Given the description of an element on the screen output the (x, y) to click on. 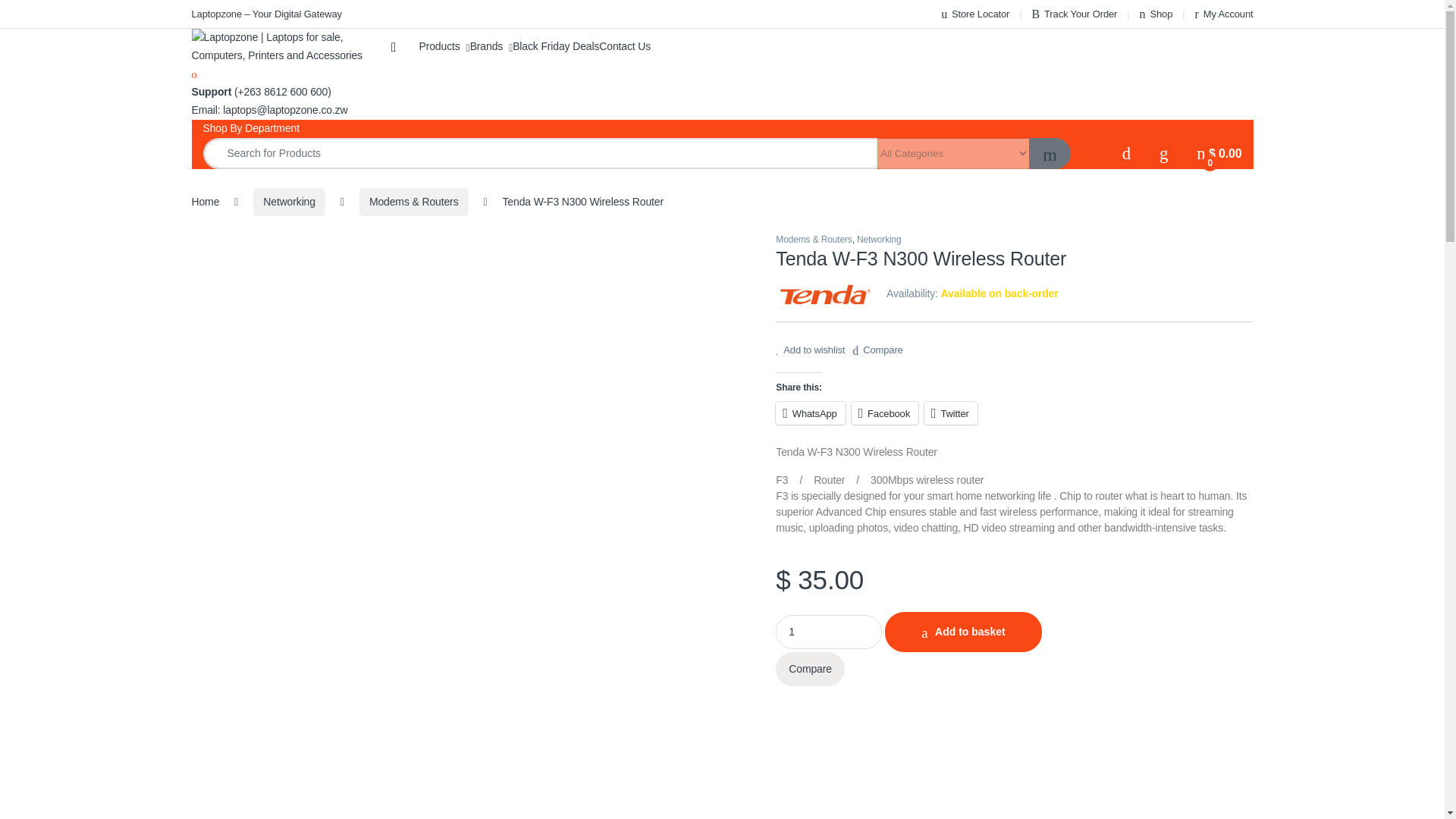
1 (829, 632)
Shop (1156, 13)
My Account (1224, 13)
Store Locator (974, 13)
Products (443, 46)
Track Your Order (1073, 13)
Store Locator (974, 13)
Laptopzone - Your Digital Gateway (265, 13)
Track Your Order (1073, 13)
Shop (1156, 13)
